Given the description of an element on the screen output the (x, y) to click on. 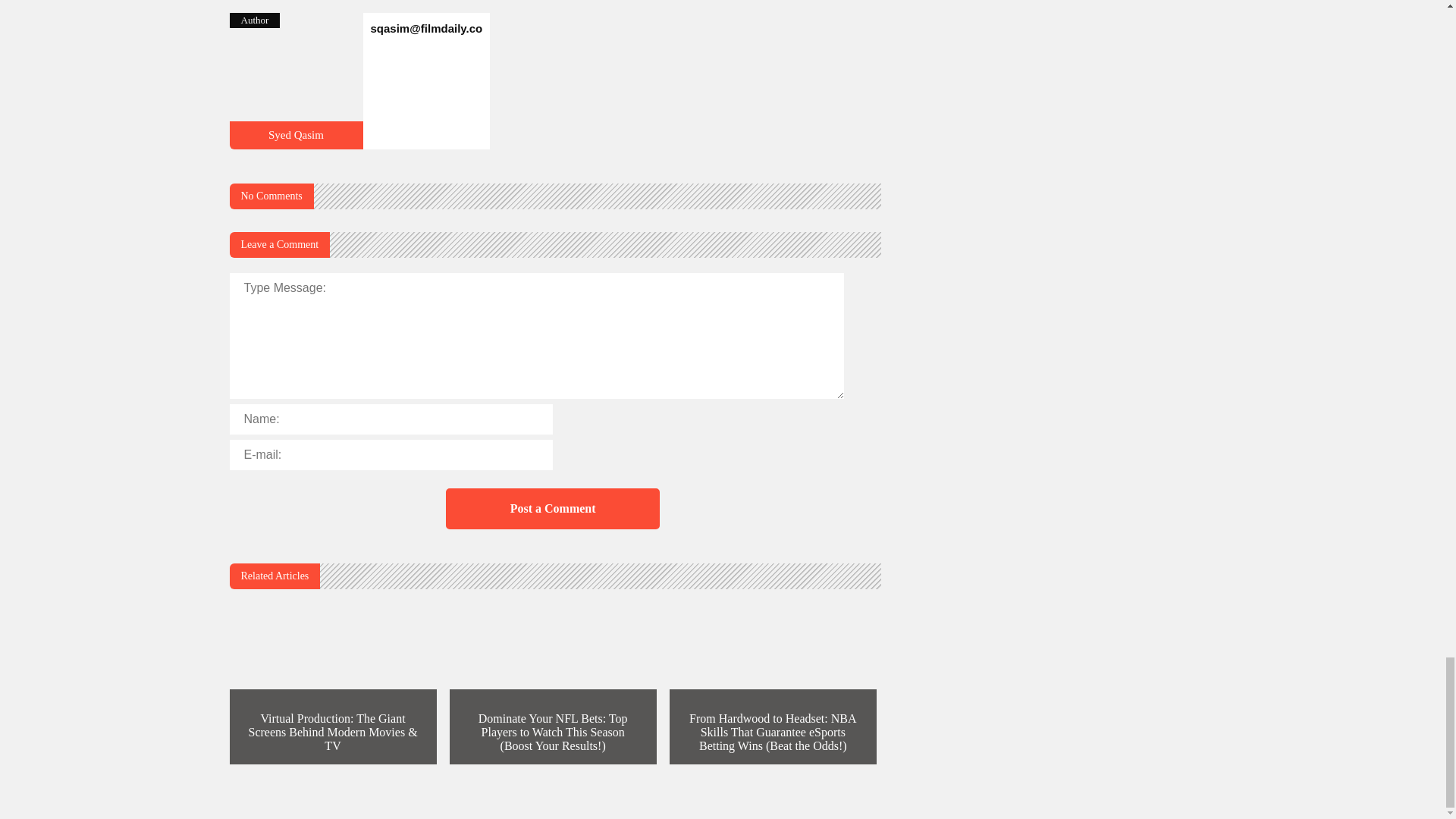
Post a Comment (552, 508)
